Given the description of an element on the screen output the (x, y) to click on. 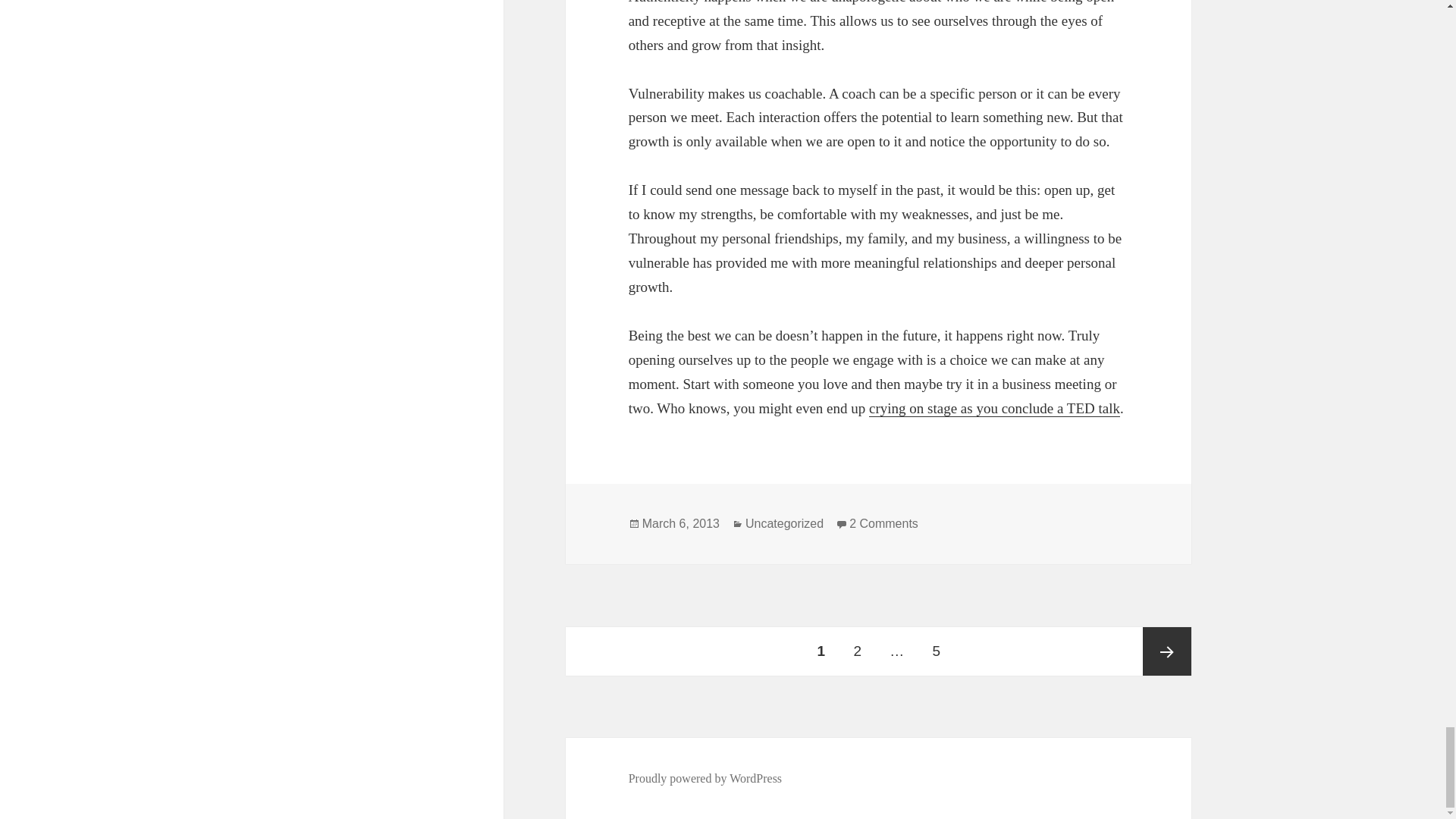
Jessica Jackley TED Talk (994, 408)
